Given the description of an element on the screen output the (x, y) to click on. 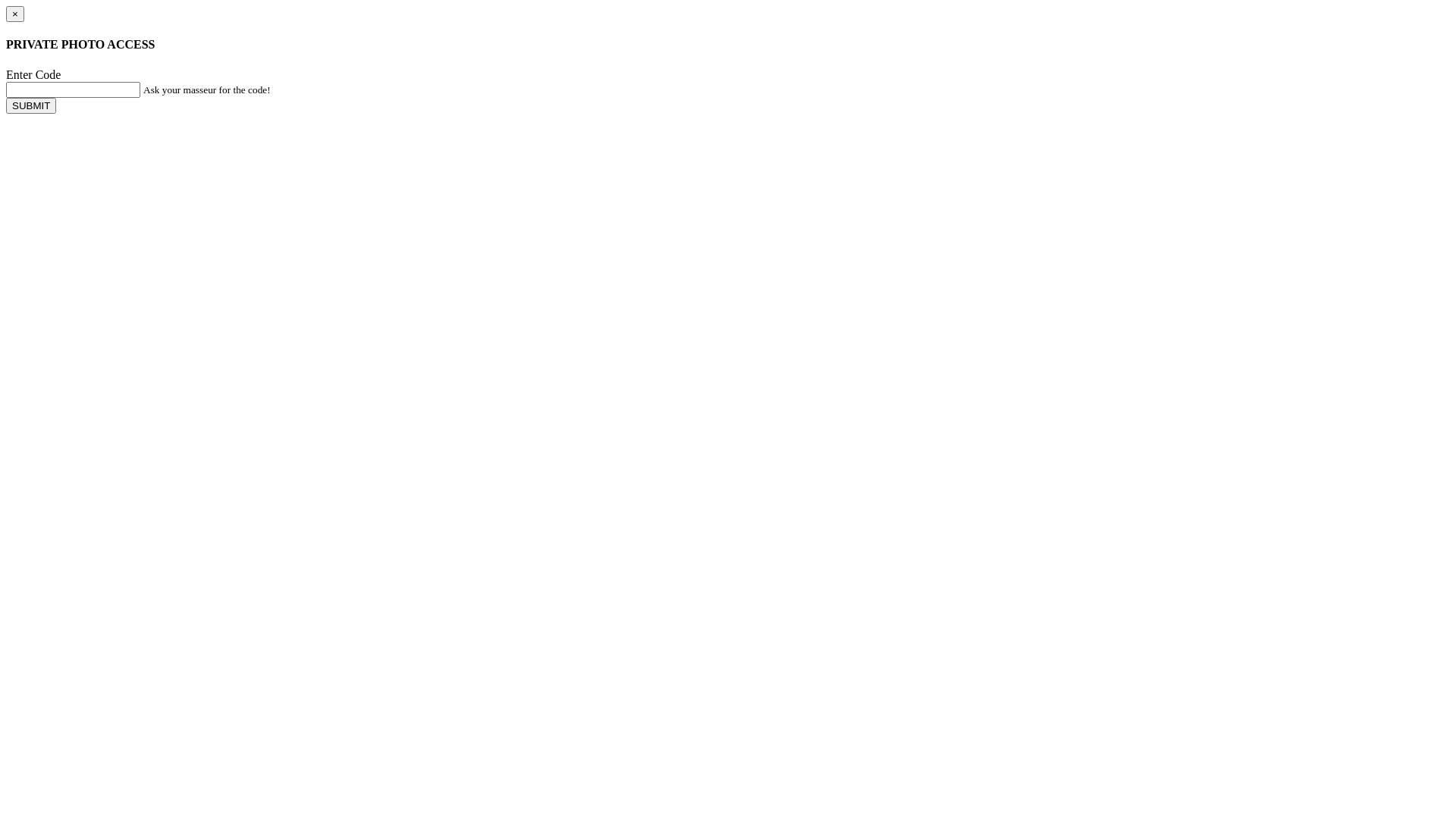
SUBMIT Element type: text (31, 105)
